Given the description of an element on the screen output the (x, y) to click on. 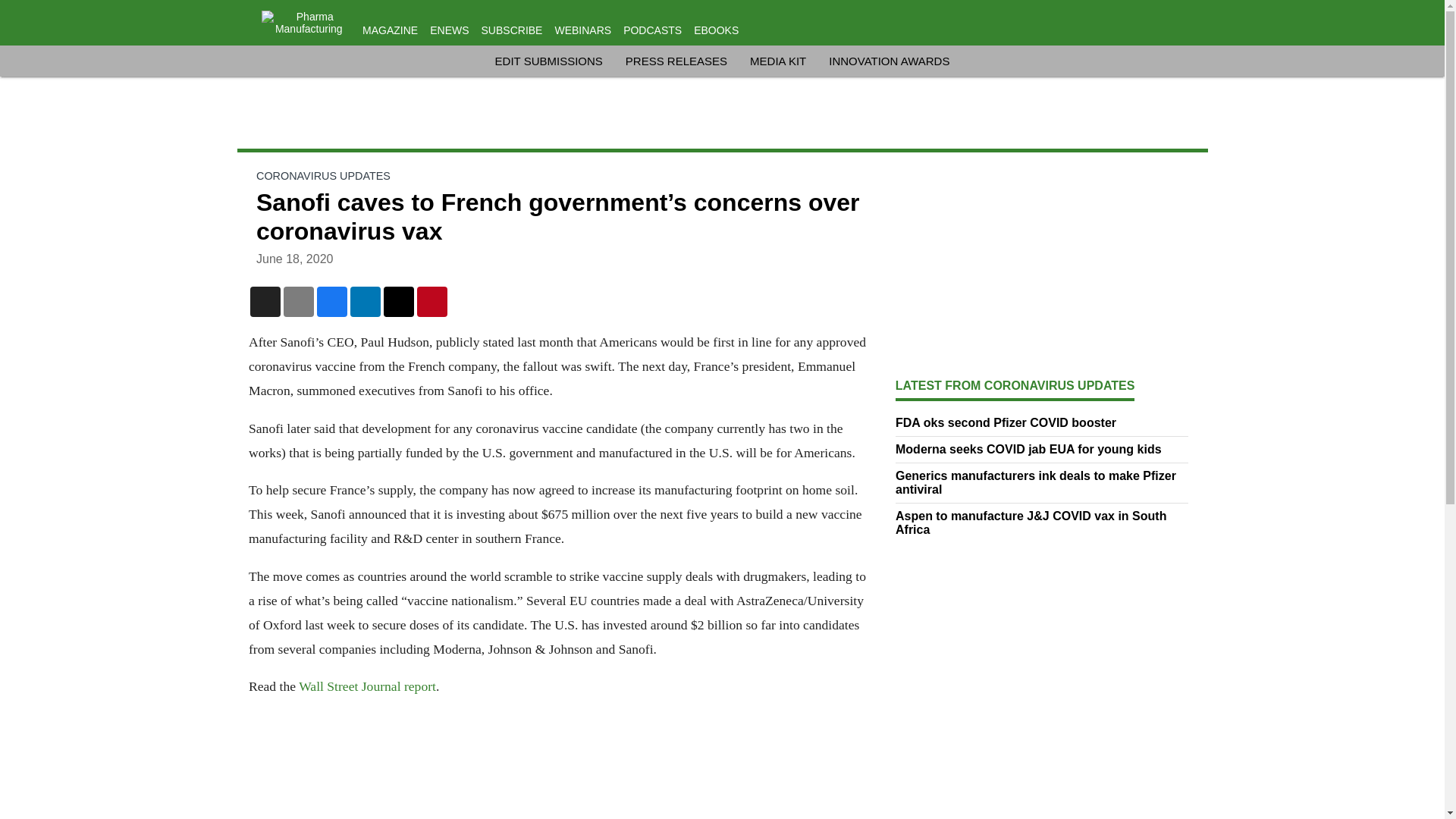
CORONAVIRUS UPDATES (323, 175)
SUBSCRIBE (512, 30)
EBOOKS (716, 30)
PODCASTS (652, 30)
Wall Street Journal report (366, 685)
PRESS RELEASES (676, 60)
EDIT SUBMISSIONS (548, 60)
INNOVATION AWARDS (888, 60)
Moderna seeks COVID jab EUA for young kids (1042, 449)
MEDIA KIT (777, 60)
WEBINARS (582, 30)
Generics manufacturers ink deals to make Pfizer antiviral (1042, 482)
FDA oks second Pfizer COVID booster (1042, 422)
MAGAZINE (389, 30)
ENEWS (448, 30)
